Given the description of an element on the screen output the (x, y) to click on. 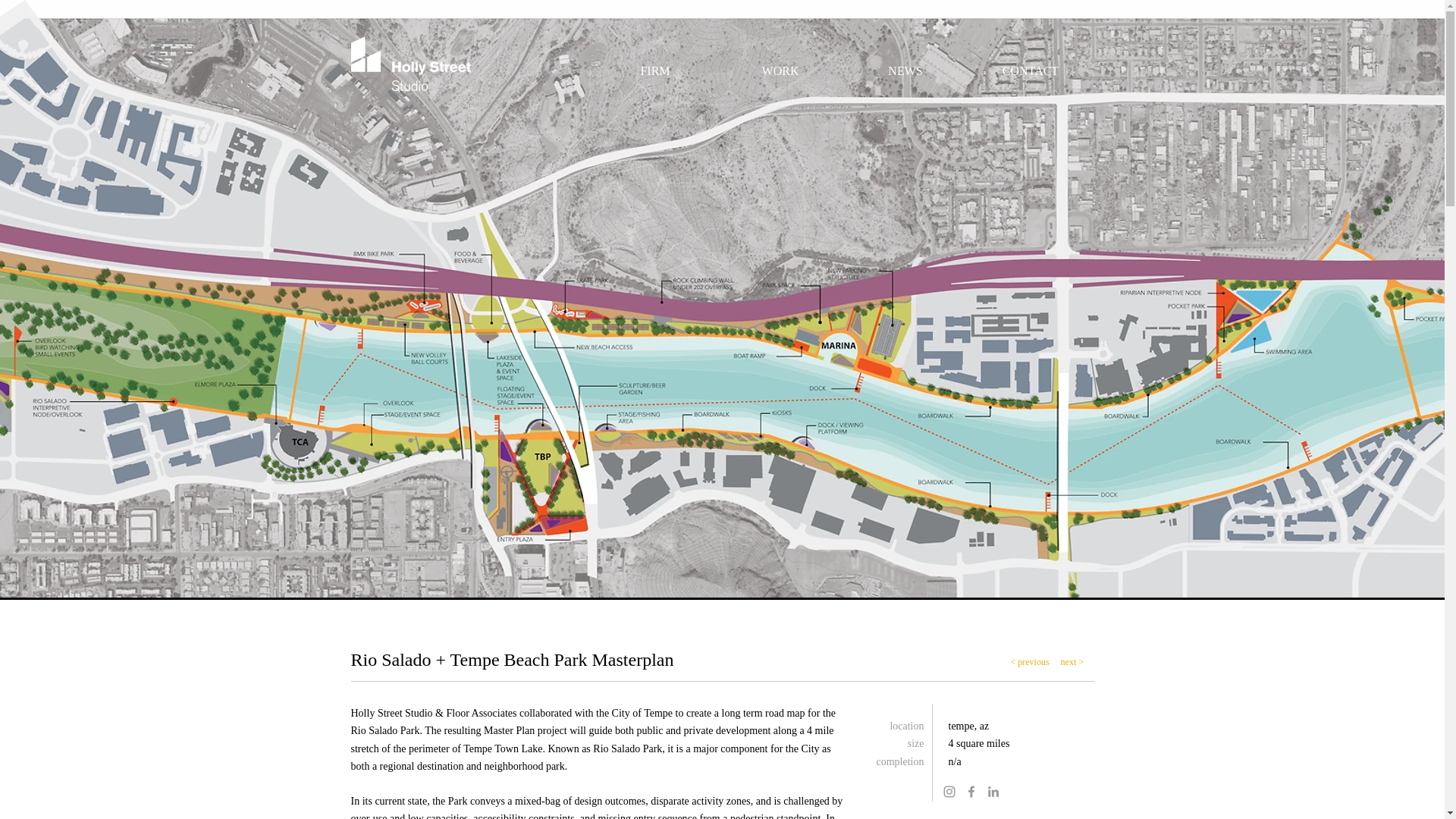
WORK (780, 63)
CONTACT (1030, 63)
FIRM (654, 63)
NEWS (905, 63)
